Given the description of an element on the screen output the (x, y) to click on. 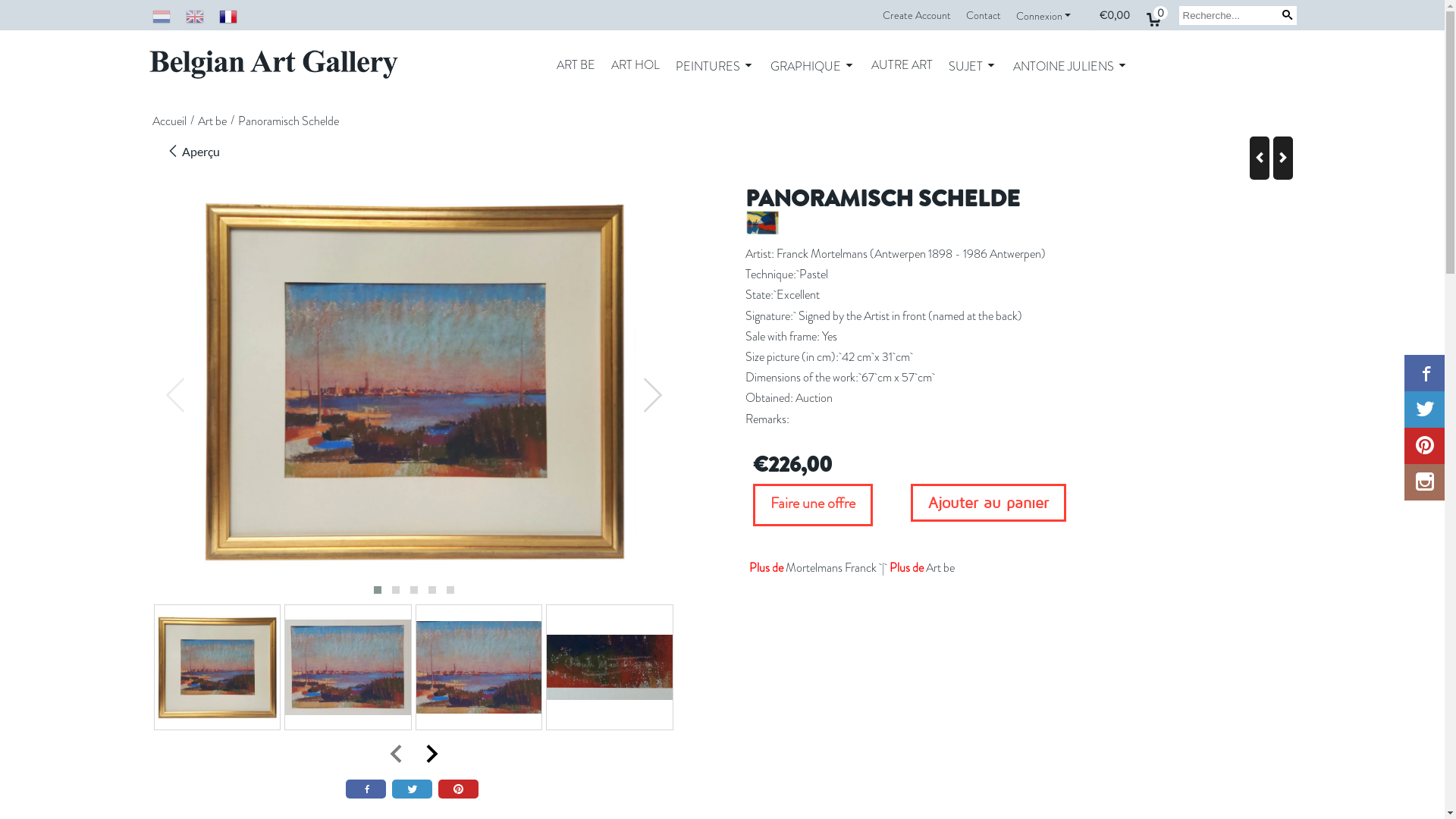
Mortelmans Franck  Element type: hover (762, 231)
Accueil Element type: text (168, 122)
PEINTURES Element type: text (715, 65)
SUJET Element type: text (972, 65)
Panoramisch Schelde Element type: text (288, 122)
ANTOINE JULIENS Element type: text (1070, 65)
Franck Mortelmans met een pastel Element type: hover (478, 667)
GRAPHIQUE Element type: text (812, 65)
Plus de Art be Element type: text (921, 567)
Kunstwerk van Franck Mortelmans kopen Element type: hover (216, 666)
ART HOL Element type: text (635, 65)
Contact Element type: text (983, 14)
Nederlands Element type: hover (160, 14)
Faire une offre Element type: text (812, 504)
English Element type: hover (194, 14)
AUTRE ART Element type: text (901, 65)
Art be Element type: text (211, 122)
Connexion Element type: text (1044, 15)
Kunstwerk van de Antwerpse kunstenaar Franck Mortelmans Element type: hover (347, 667)
ART BE Element type: text (575, 65)
Pastelschilderij door Franck Mortelmans Element type: hover (608, 666)
Suivant Element type: hover (1282, 157)
Create Account Element type: text (916, 14)
Mortelmans Franck  Element type: hover (762, 223)
Plus de Mortelmans Franck Element type: text (813, 567)
Kunstwerk van Franck Mortelmans kopen Element type: hover (413, 380)
Ajouter au panier Element type: text (988, 502)
